Given the description of an element on the screen output the (x, y) to click on. 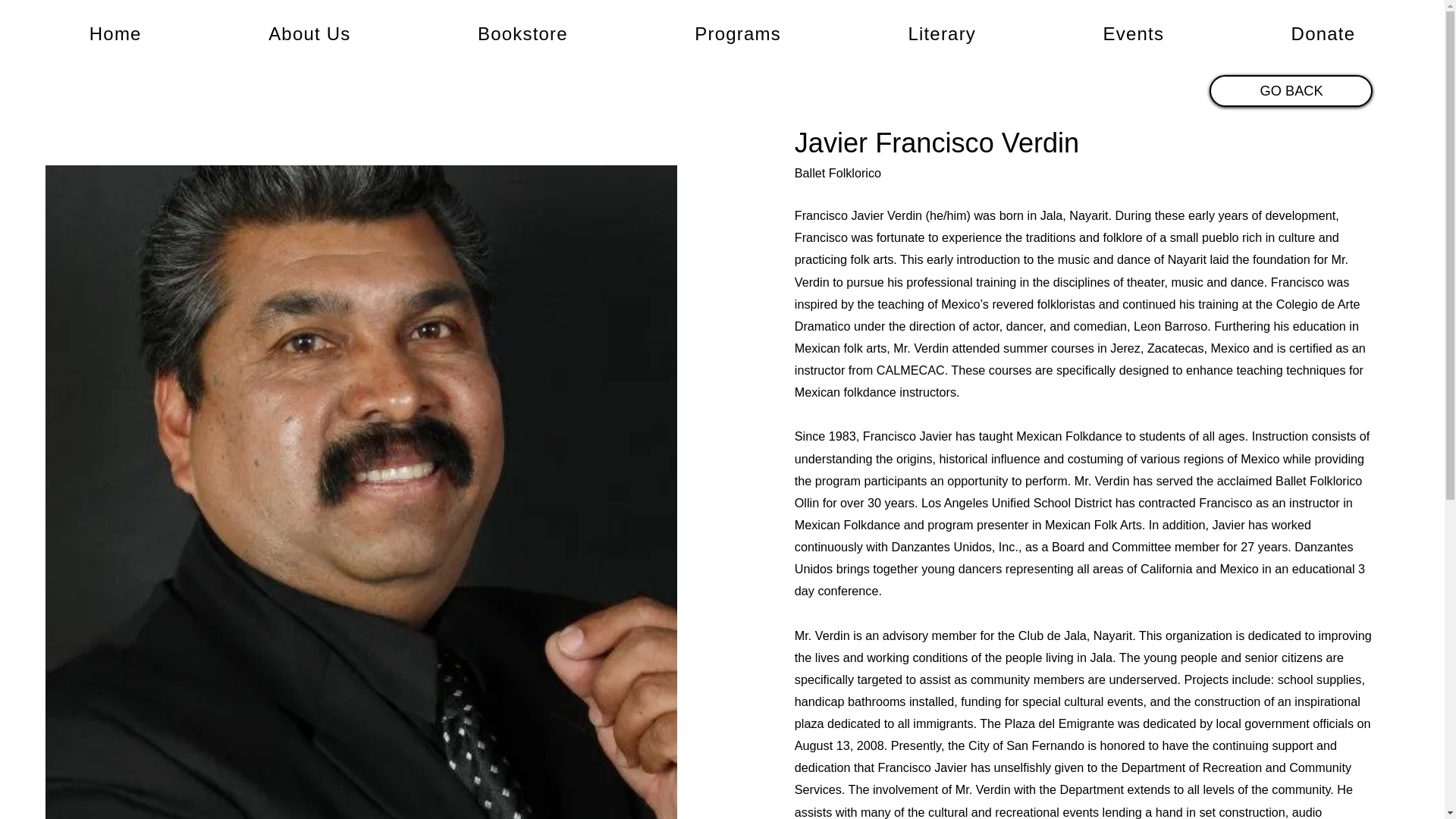
Events (1133, 33)
Literary (941, 33)
Bookstore (521, 33)
Home (115, 33)
GO BACK (1290, 91)
About Us (309, 33)
Donate (1322, 33)
Programs (737, 33)
